Given the description of an element on the screen output the (x, y) to click on. 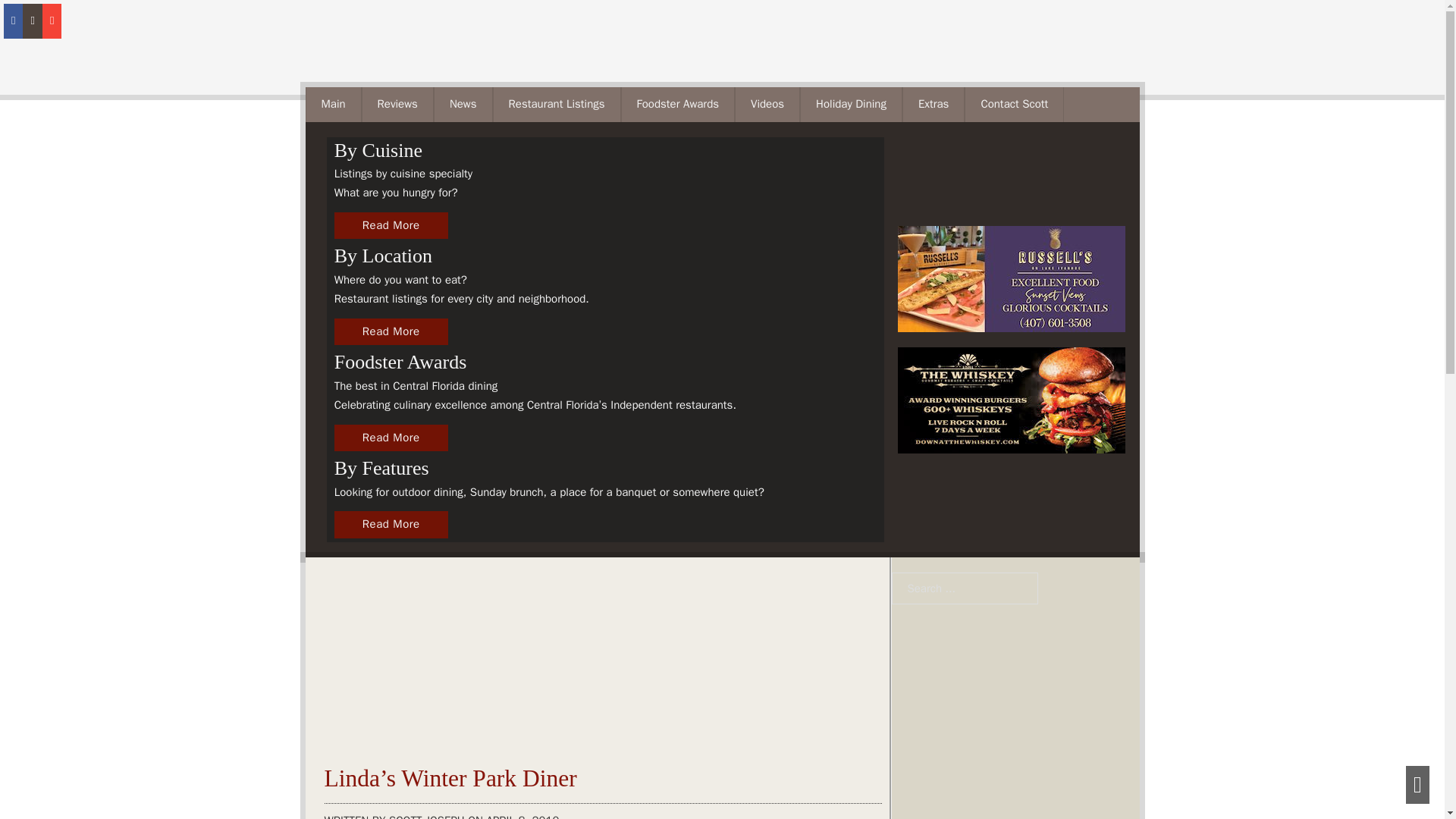
Restaurant Listings By Location (391, 225)
Restaurant Listings By Features (391, 524)
Foodster Awards (391, 438)
Restaurant Listings By Cuisine (391, 331)
